Given the description of an element on the screen output the (x, y) to click on. 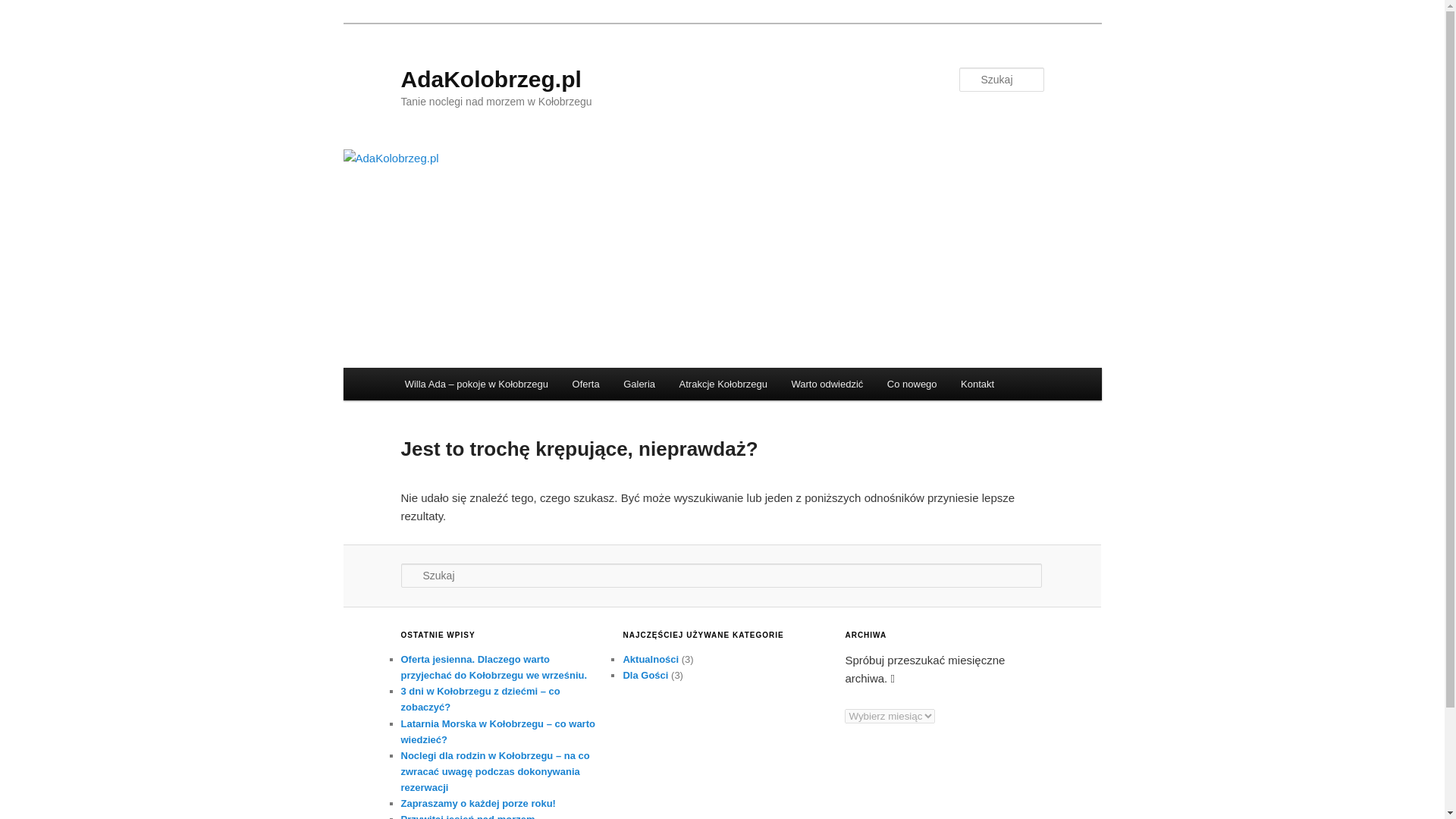
AdaKolobrzeg.pl (490, 78)
Oferta (585, 383)
Co nowego (912, 383)
Szukaj (23, 8)
Kontakt (977, 383)
Galeria (638, 383)
